Given the description of an element on the screen output the (x, y) to click on. 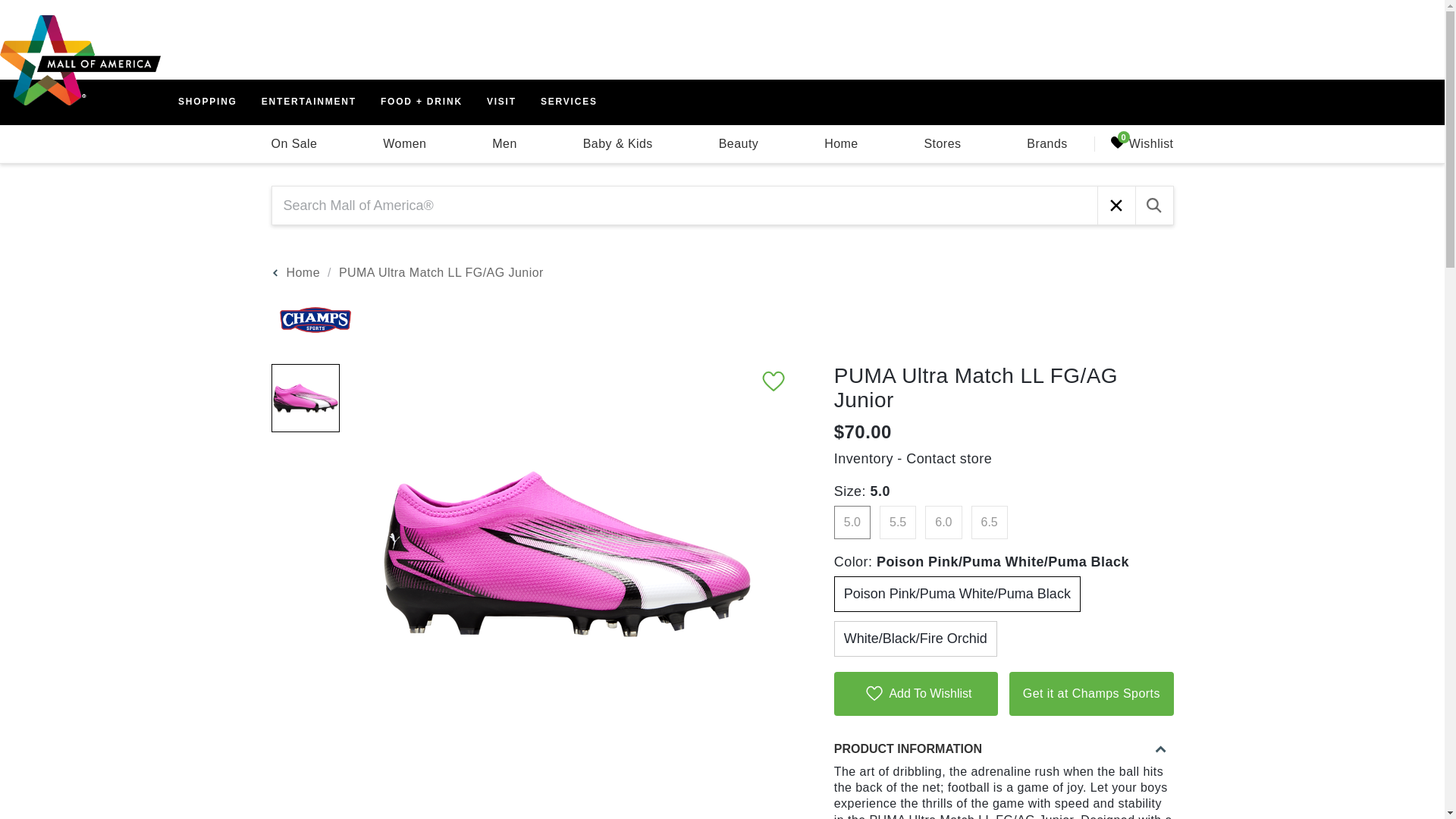
ENTERTAINMENT (309, 102)
SHOPPING (207, 102)
